Given the description of an element on the screen output the (x, y) to click on. 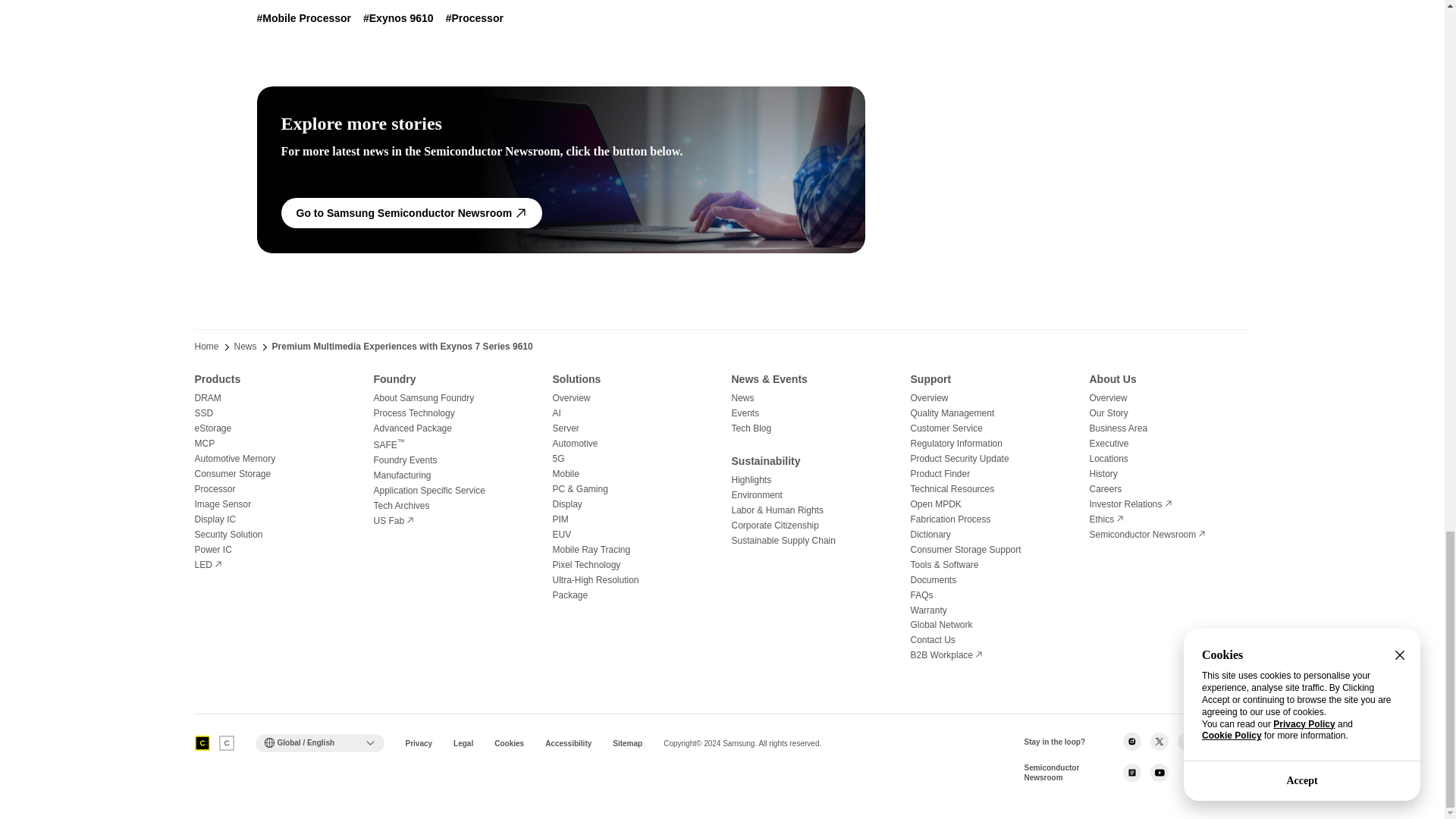
Official YouTube (1240, 741)
open new window (945, 655)
Official Facebook (1185, 741)
Official LinkedIn (1213, 741)
Official Instagram (1131, 741)
open new window (1147, 534)
open new window (1130, 503)
Official TwitterX (1158, 741)
open new window (1106, 519)
open new window (392, 520)
